Given the description of an element on the screen output the (x, y) to click on. 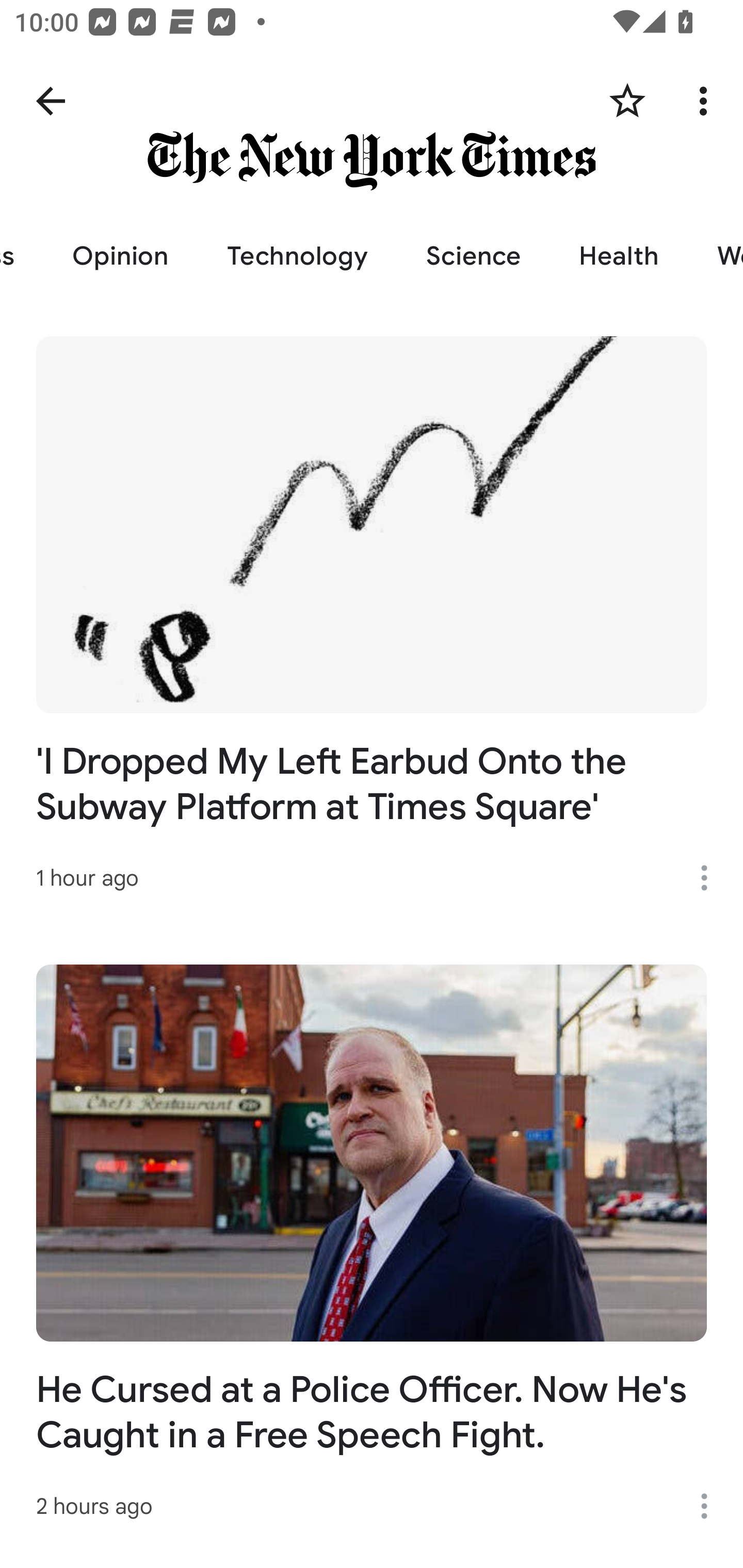
Navigate up (50, 101)
Follow (626, 101)
More options (706, 101)
Opinion (120, 256)
Technology (296, 256)
Science (472, 256)
Health (618, 256)
More options (711, 878)
More options (711, 1505)
